Given the description of an element on the screen output the (x, y) to click on. 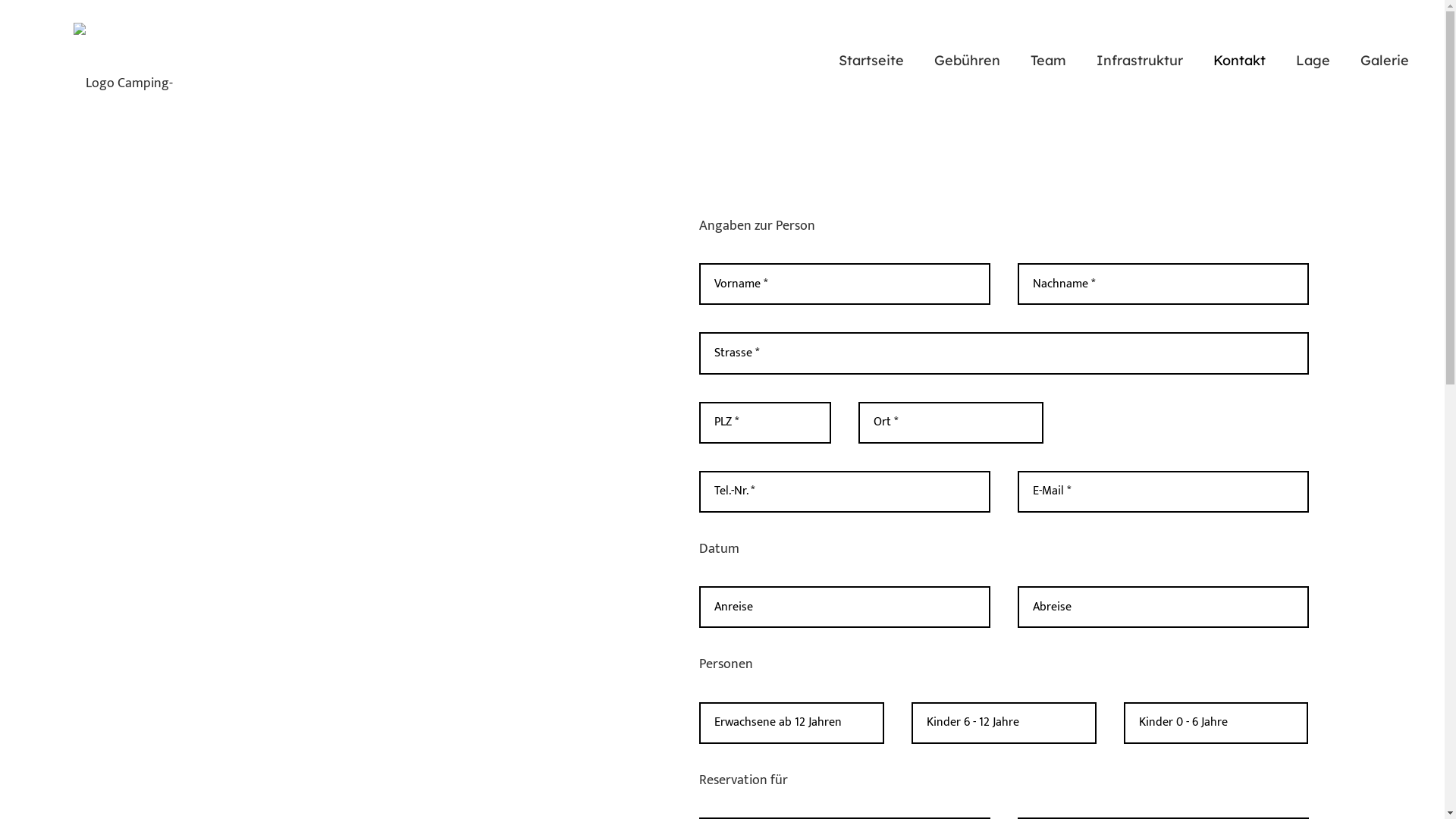
Team Element type: text (758, 635)
Startseite Element type: text (871, 60)
Startseite Element type: text (771, 589)
Galerie Element type: text (1384, 60)
Datenschutz Element type: text (1171, 726)
Team Element type: text (1048, 60)
Kontakt Element type: text (1239, 60)
info@camping-nottwil.ch Element type: text (544, 726)
Infrastruktur Element type: text (781, 657)
Lage Element type: text (1312, 60)
Kontakt Element type: text (765, 680)
Galerie Element type: text (763, 726)
Impressum Element type: text (1088, 726)
Infrastruktur Element type: text (1139, 60)
Lage Element type: text (756, 704)
